Given the description of an element on the screen output the (x, y) to click on. 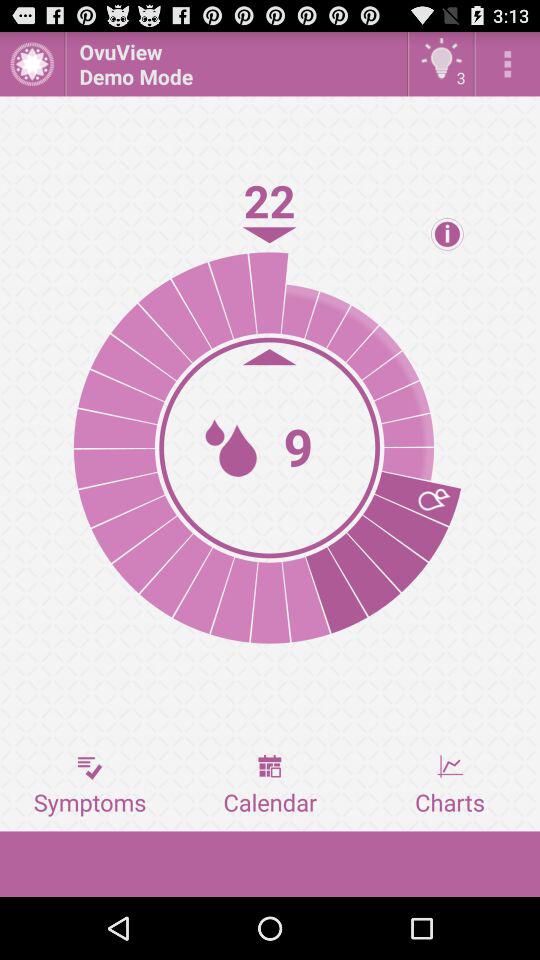
open more options (507, 63)
